Given the description of an element on the screen output the (x, y) to click on. 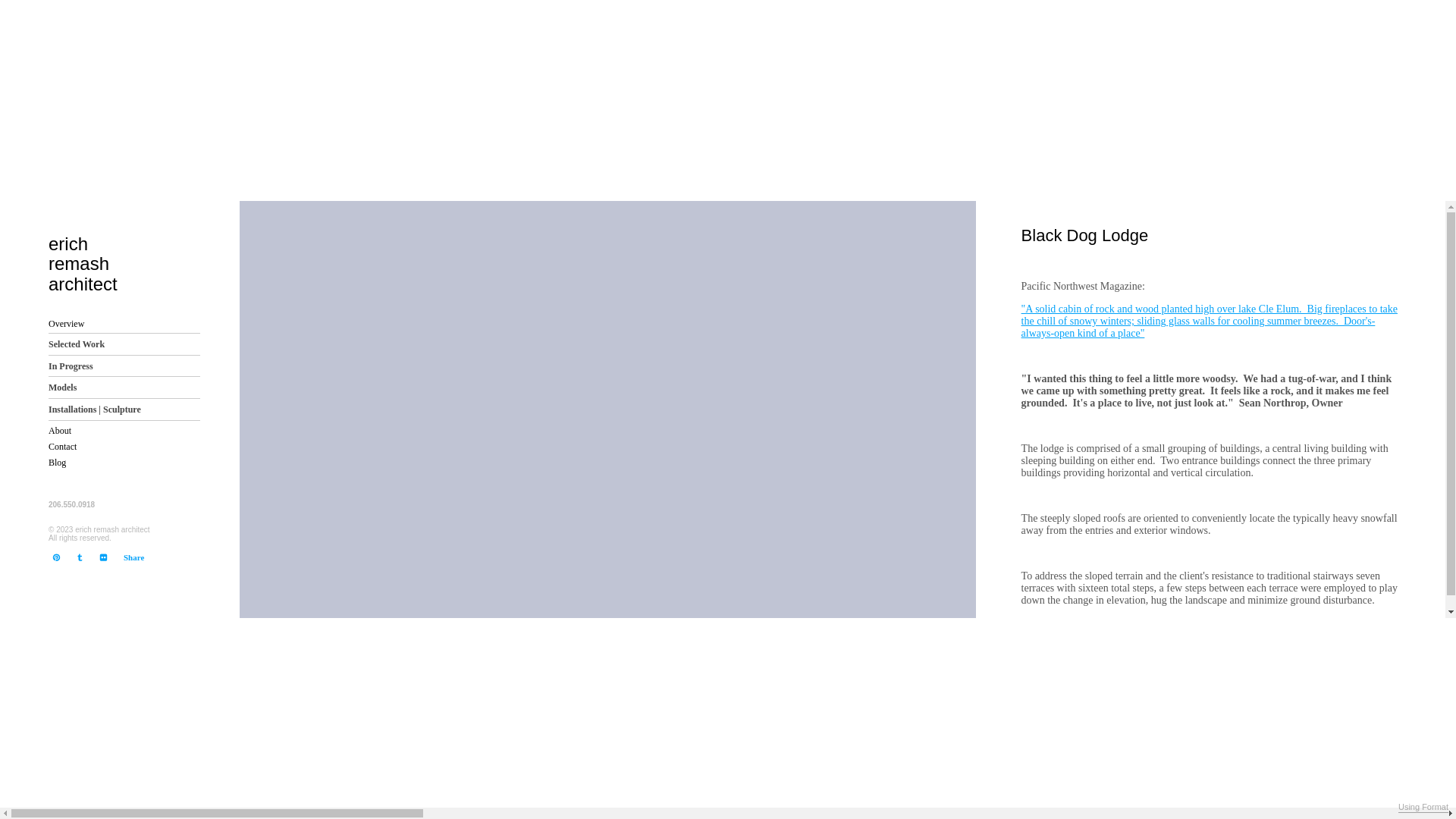
Overview (66, 323)
In Progress (124, 365)
Tumblr (116, 255)
Selected Work (79, 557)
Pinterest (124, 343)
Models (56, 557)
Contact (124, 386)
Flickr (62, 446)
Blog (104, 557)
Share (56, 462)
About (133, 556)
